Given the description of an element on the screen output the (x, y) to click on. 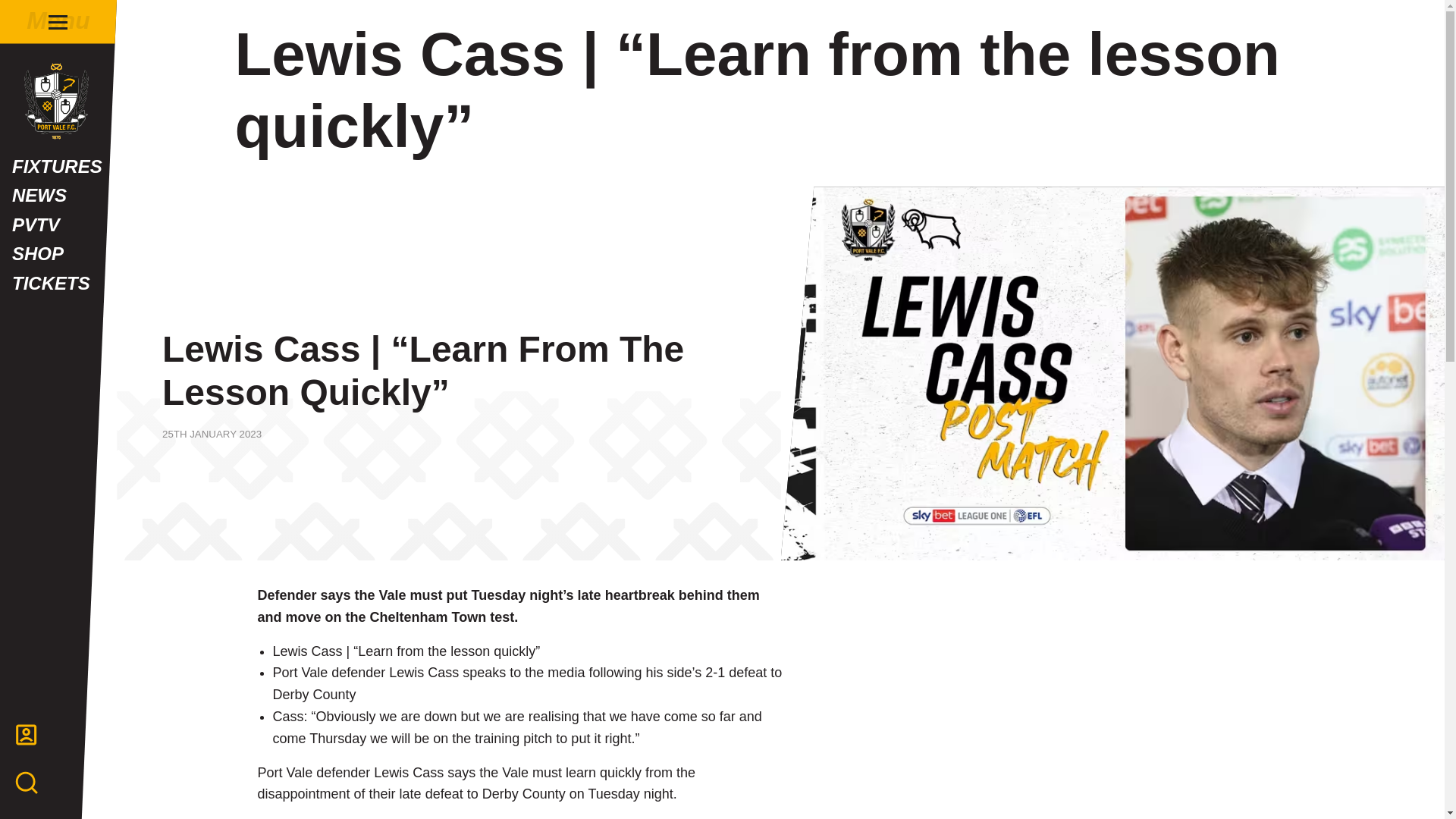
FIXTURES (57, 166)
PVTV (57, 224)
Menu (58, 21)
NEWS (57, 194)
